Given the description of an element on the screen output the (x, y) to click on. 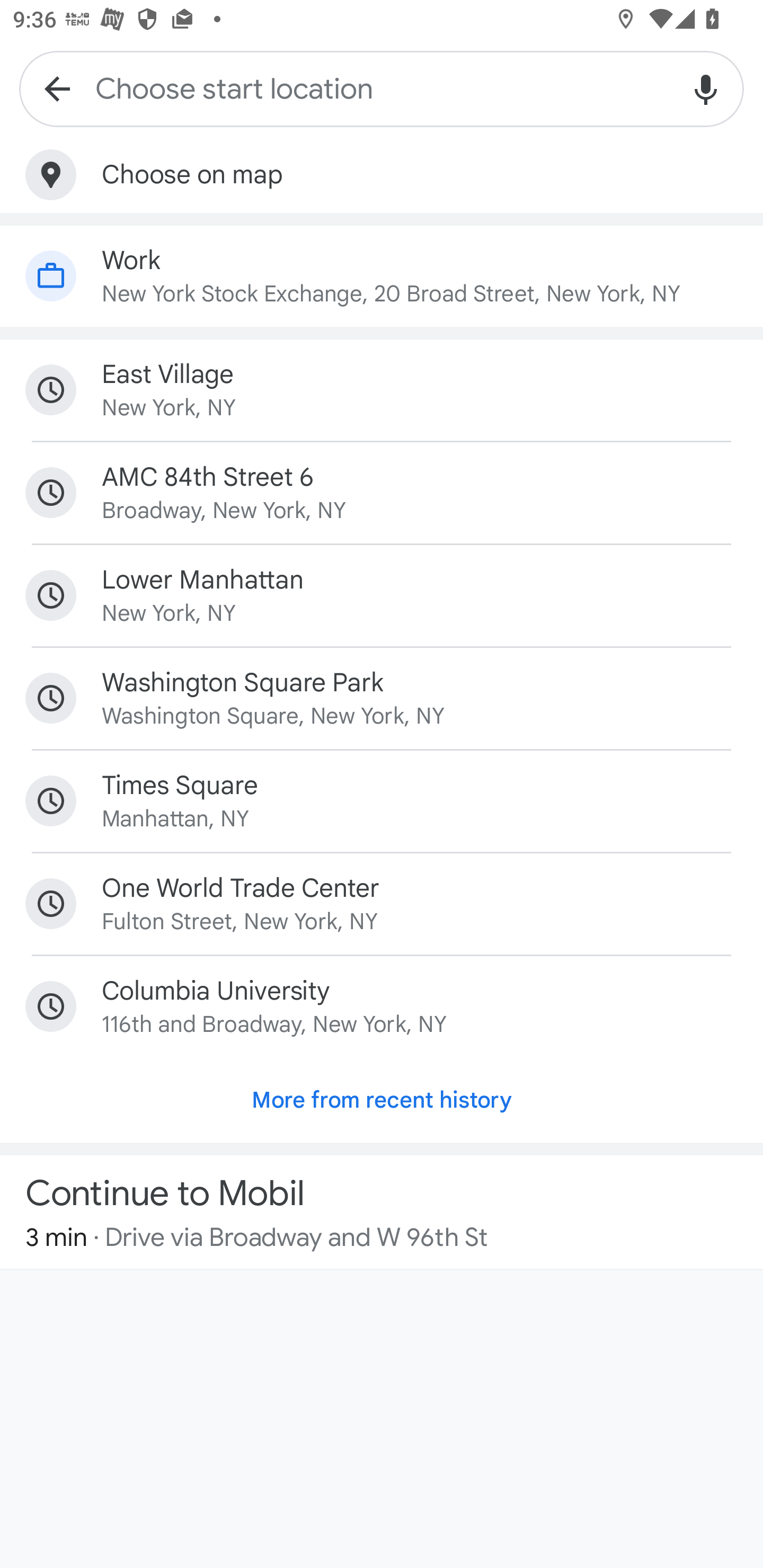
Navigate up (57, 88)
Choose start location (381, 88)
Voice search (705, 88)
Choose on map (381, 174)
East Village New York, NY (381, 390)
AMC 84th Street 6 Broadway, New York, NY (381, 493)
Lower Manhattan New York, NY (381, 595)
Times Square Manhattan, NY (381, 801)
One World Trade Center Fulton Street, New York, NY (381, 903)
More from recent history (381, 1099)
